Given the description of an element on the screen output the (x, y) to click on. 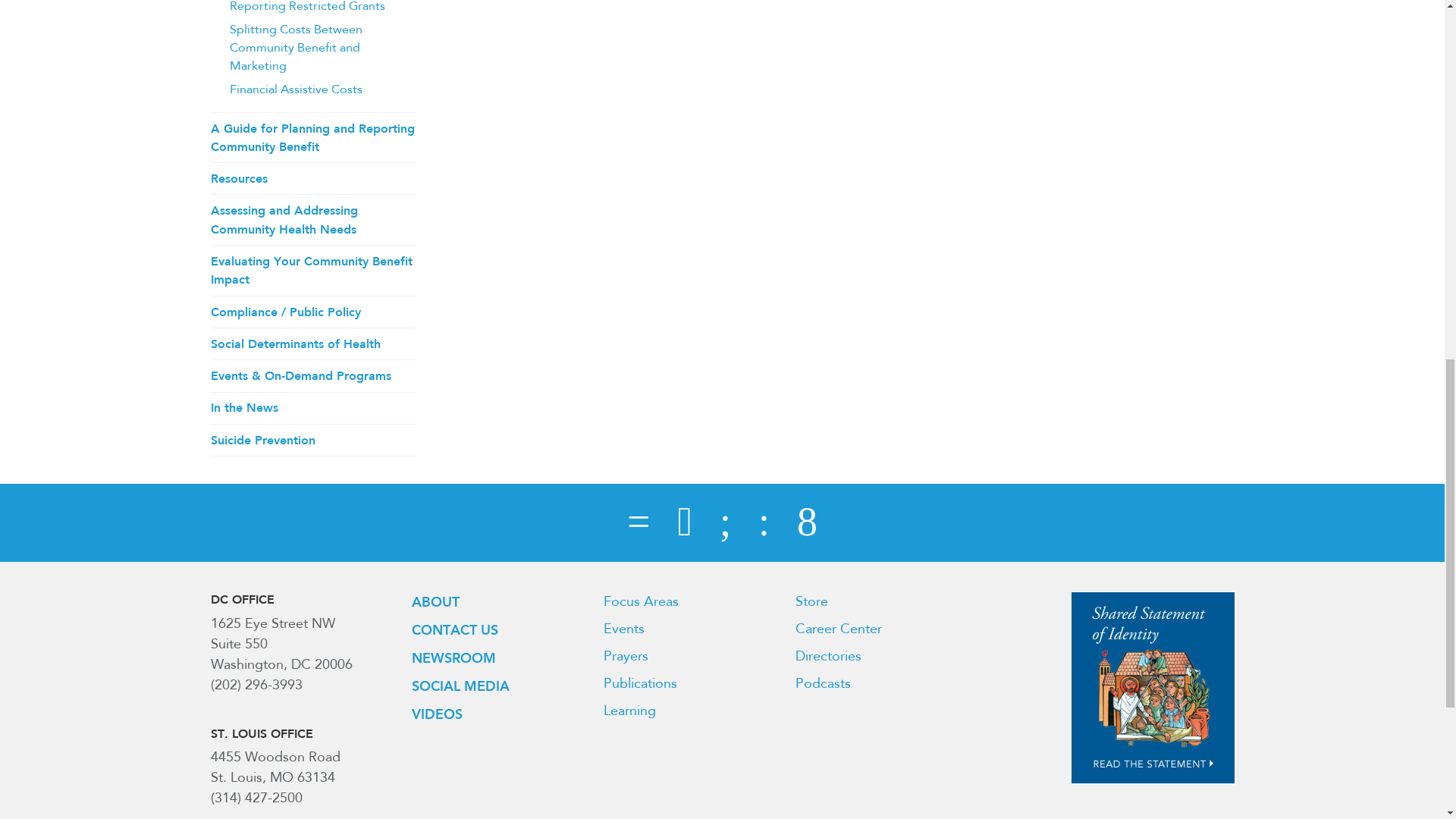
Shared Statement of Identity (1153, 687)
Facebook (638, 523)
LinkedIn (724, 523)
Twitter (685, 523)
Instagram (806, 523)
Youtube (764, 523)
